Given the description of an element on the screen output the (x, y) to click on. 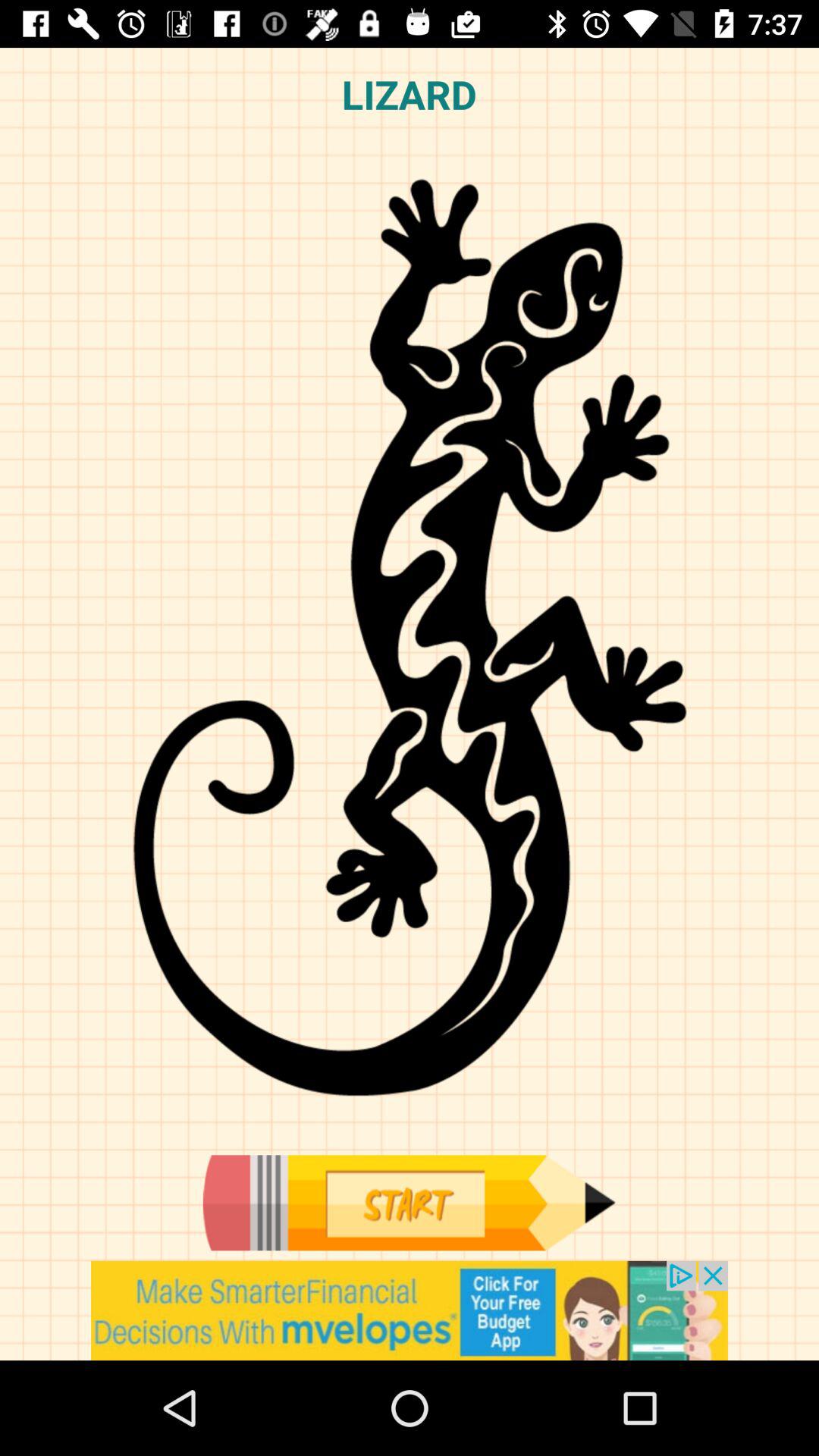
start the draw (409, 1202)
